Given the description of an element on the screen output the (x, y) to click on. 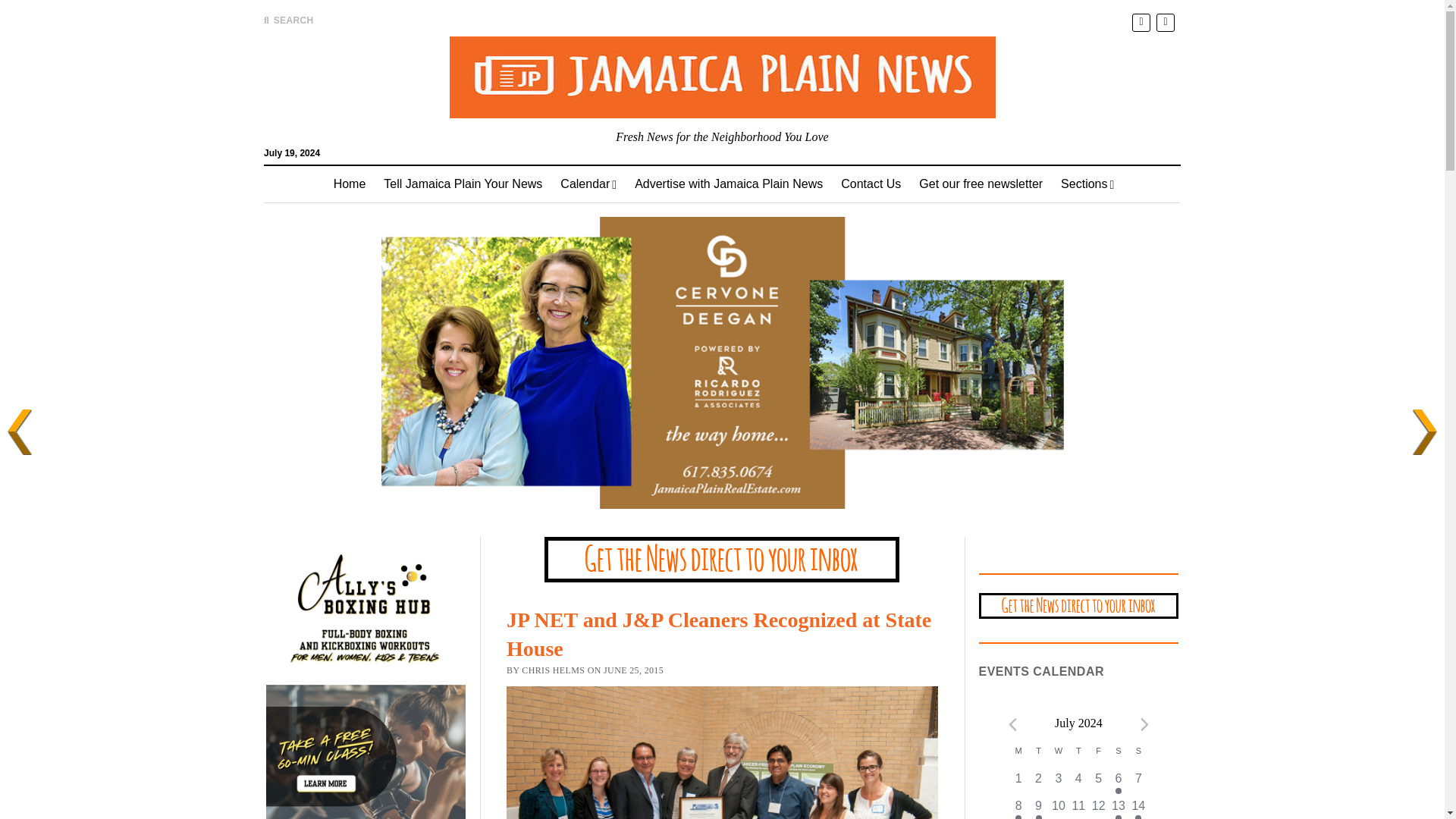
Search (945, 129)
Calendar (588, 184)
Has events (1118, 790)
Test Header Ad  (1078, 608)
Tell Jamaica Plain Your News (462, 184)
SEARCH (288, 20)
Advertise with Jamaica Plain News (728, 184)
Sections (1086, 184)
Get our free newsletter (980, 184)
Home (349, 184)
Contact Us (870, 184)
